Given the description of an element on the screen output the (x, y) to click on. 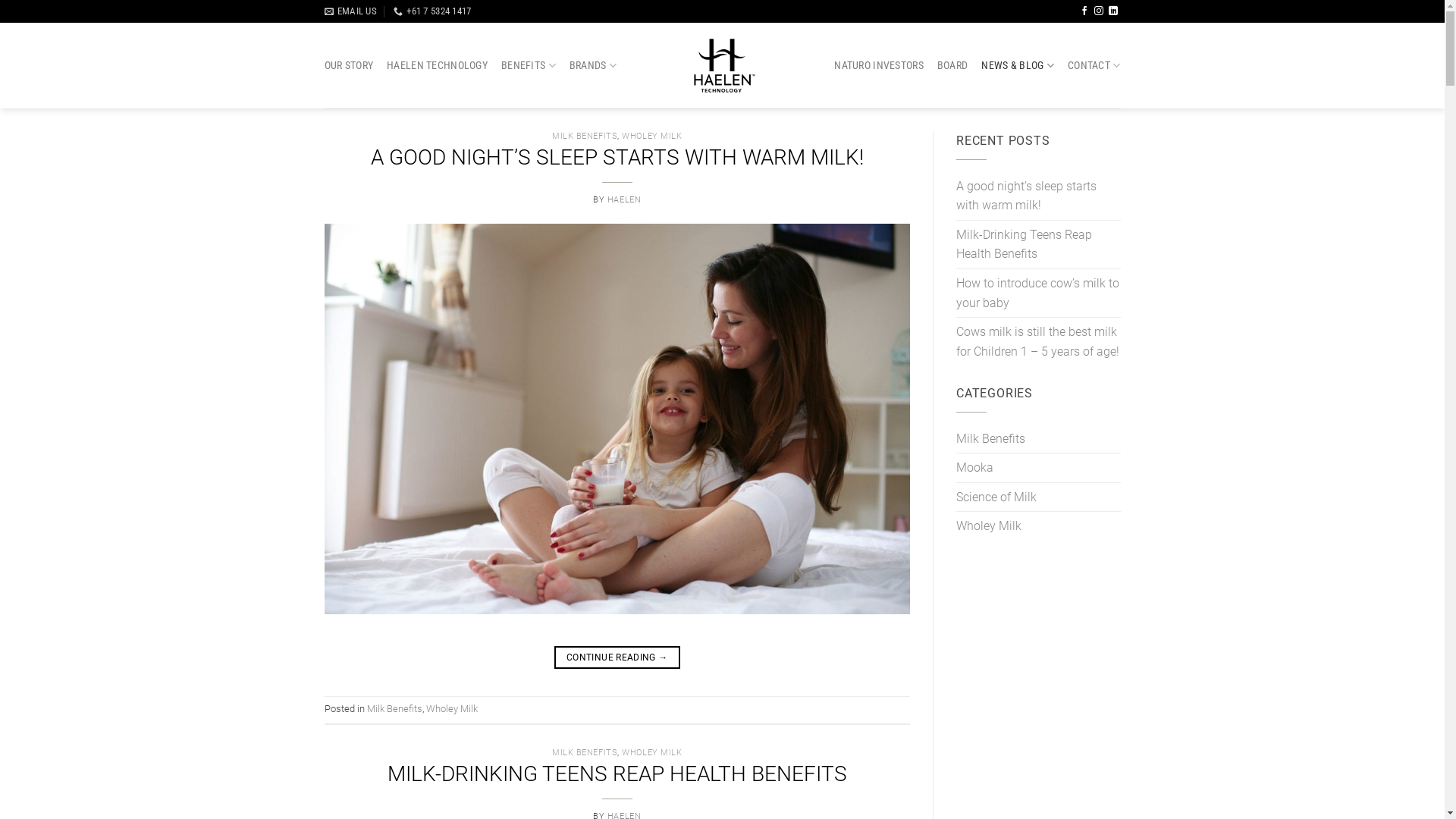
MILK BENEFITS Element type: text (584, 136)
BENEFITS Element type: text (528, 65)
Follow on Instagram Element type: hover (1098, 11)
Milk-Drinking Teens Reap Health Benefits Element type: text (1038, 244)
Skip to content Element type: text (0, 0)
Follow on Facebook Element type: hover (1083, 11)
Mooka Element type: text (974, 467)
NEWS & BLOG Element type: text (1017, 65)
HAELEN TECHNOLOGY Element type: text (436, 65)
BRANDS Element type: text (592, 65)
+61 7 5324 1417 Element type: text (431, 11)
OUR STORY Element type: text (348, 65)
BOARD Element type: text (952, 65)
HAELEN Element type: text (623, 199)
Wholey Milk Element type: text (451, 708)
Wholey Milk Element type: text (988, 525)
Science of Milk Element type: text (996, 497)
NATURO INVESTORS Element type: text (878, 65)
Follow on LinkedIn Element type: hover (1112, 11)
MILK BENEFITS Element type: text (584, 752)
WHOLEY MILK Element type: text (651, 136)
WHOLEY MILK Element type: text (651, 752)
Milk Benefits Element type: text (990, 438)
Haelen - N/A Element type: hover (721, 65)
Milk Benefits Element type: text (394, 708)
EMAIL US Element type: text (350, 11)
CONTACT Element type: text (1093, 65)
MILK-DRINKING TEENS REAP HEALTH BENEFITS Element type: text (617, 773)
